Given the description of an element on the screen output the (x, y) to click on. 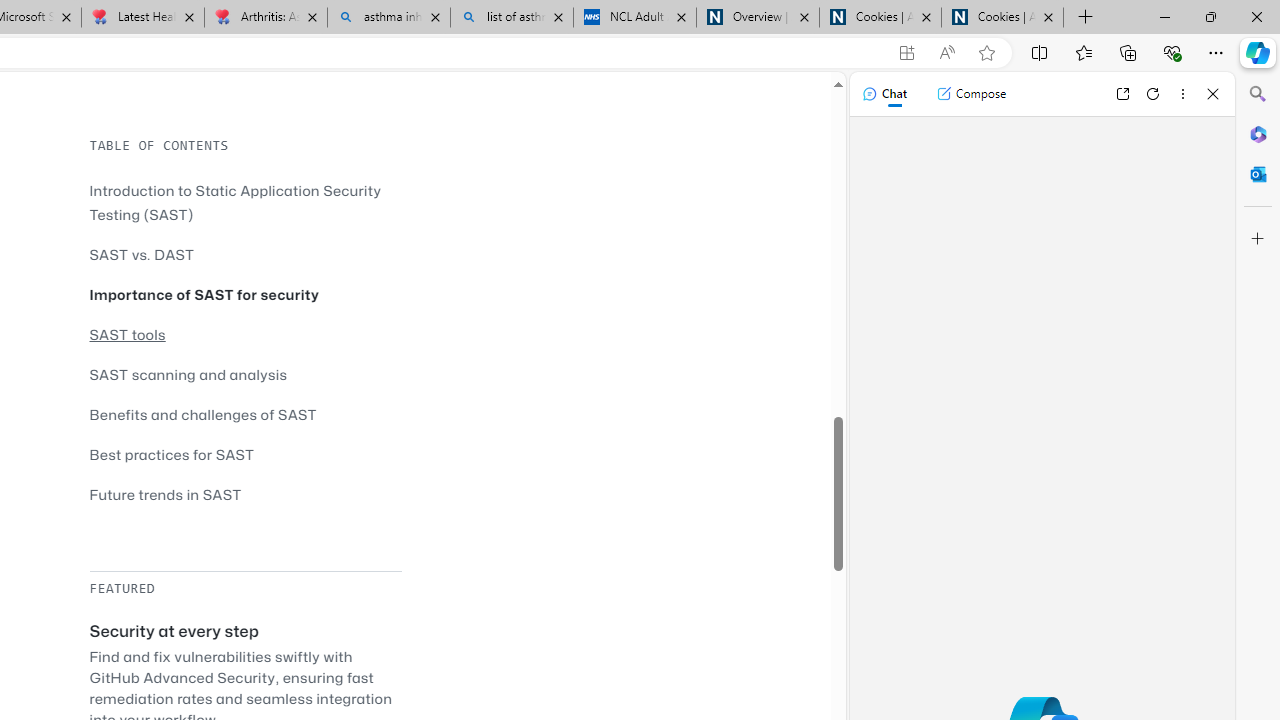
Benefits and challenges of SAST (245, 413)
Importance of SAST for security (204, 294)
Introduction to Static Application Security Testing (SAST) (245, 201)
App available. Install GitHub (906, 53)
Cookies | About | NICE (1002, 17)
Best practices for SAST (245, 454)
